Given the description of an element on the screen output the (x, y) to click on. 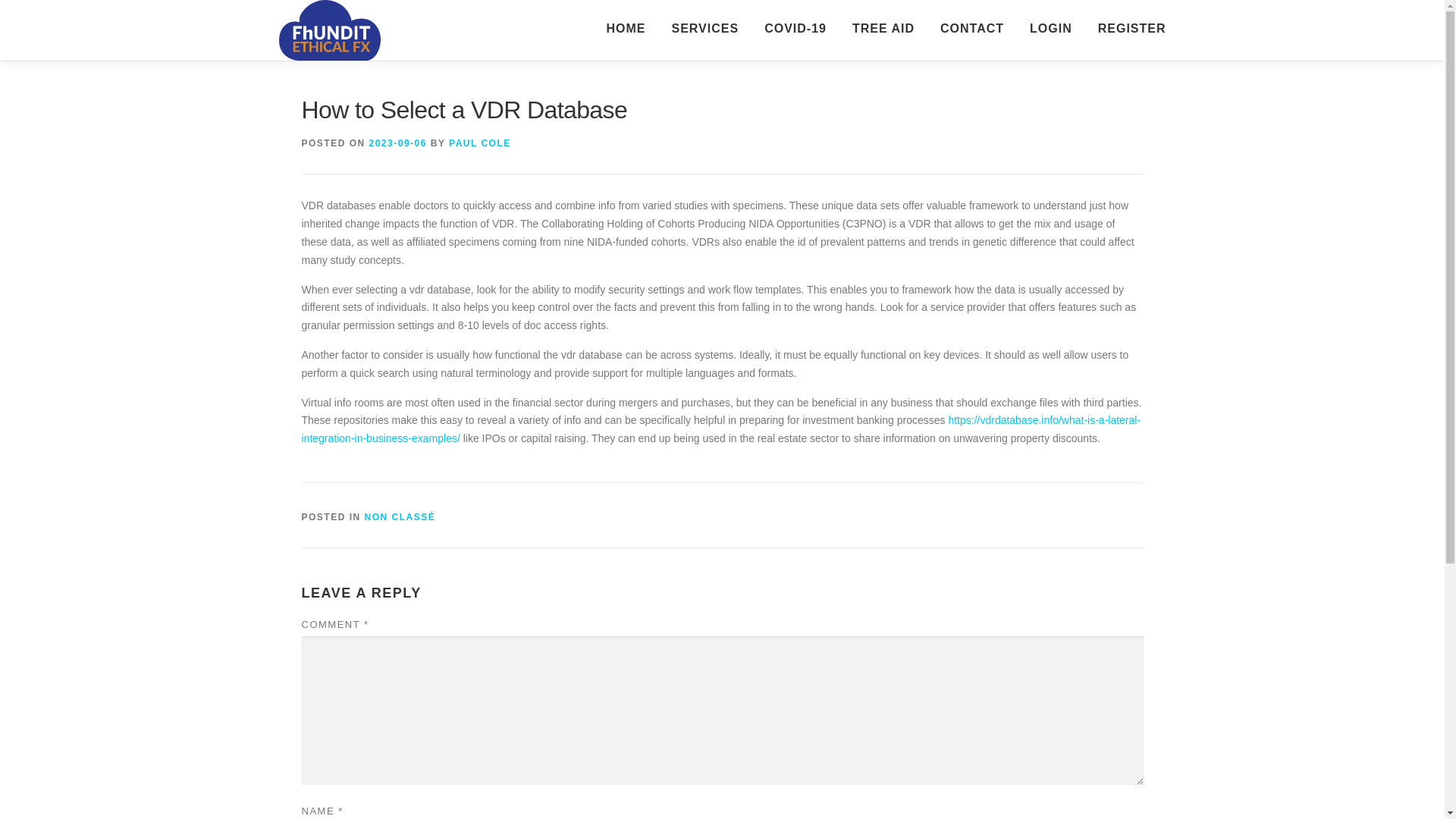
HOME (625, 28)
PAUL COLE (479, 143)
REGISTER (1125, 28)
2023-09-06 (397, 143)
CONTACT (971, 28)
SERVICES (704, 28)
COVID-19 (795, 28)
LOGIN (1050, 28)
TREE AID (883, 28)
